Given the description of an element on the screen output the (x, y) to click on. 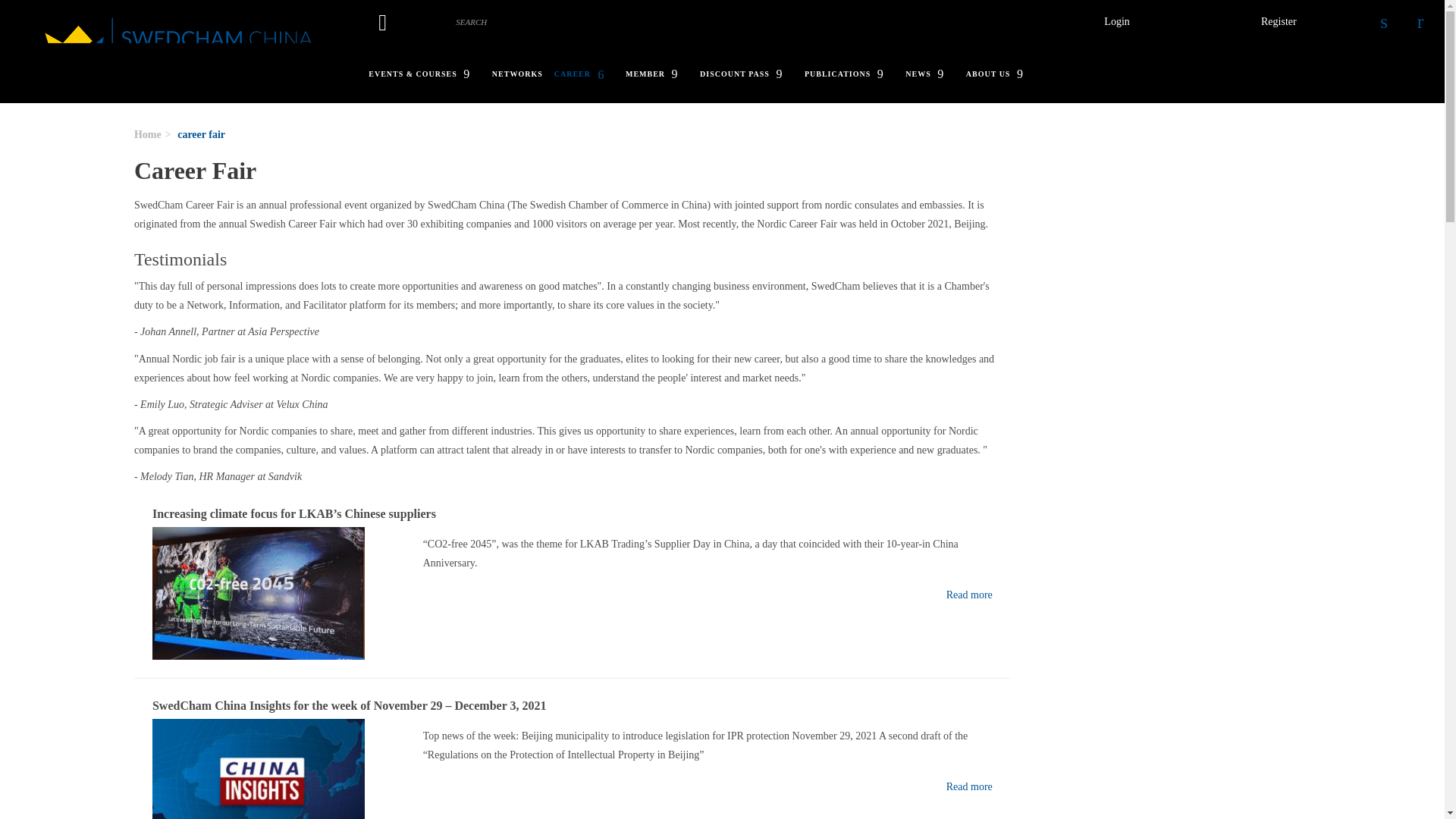
NEWS (935, 74)
Home (180, 51)
MEMBER (663, 74)
Login (1115, 22)
NETWORKS (523, 74)
Register (1278, 22)
CAREER (590, 74)
DISCOUNT PASS (752, 74)
